Given the description of an element on the screen output the (x, y) to click on. 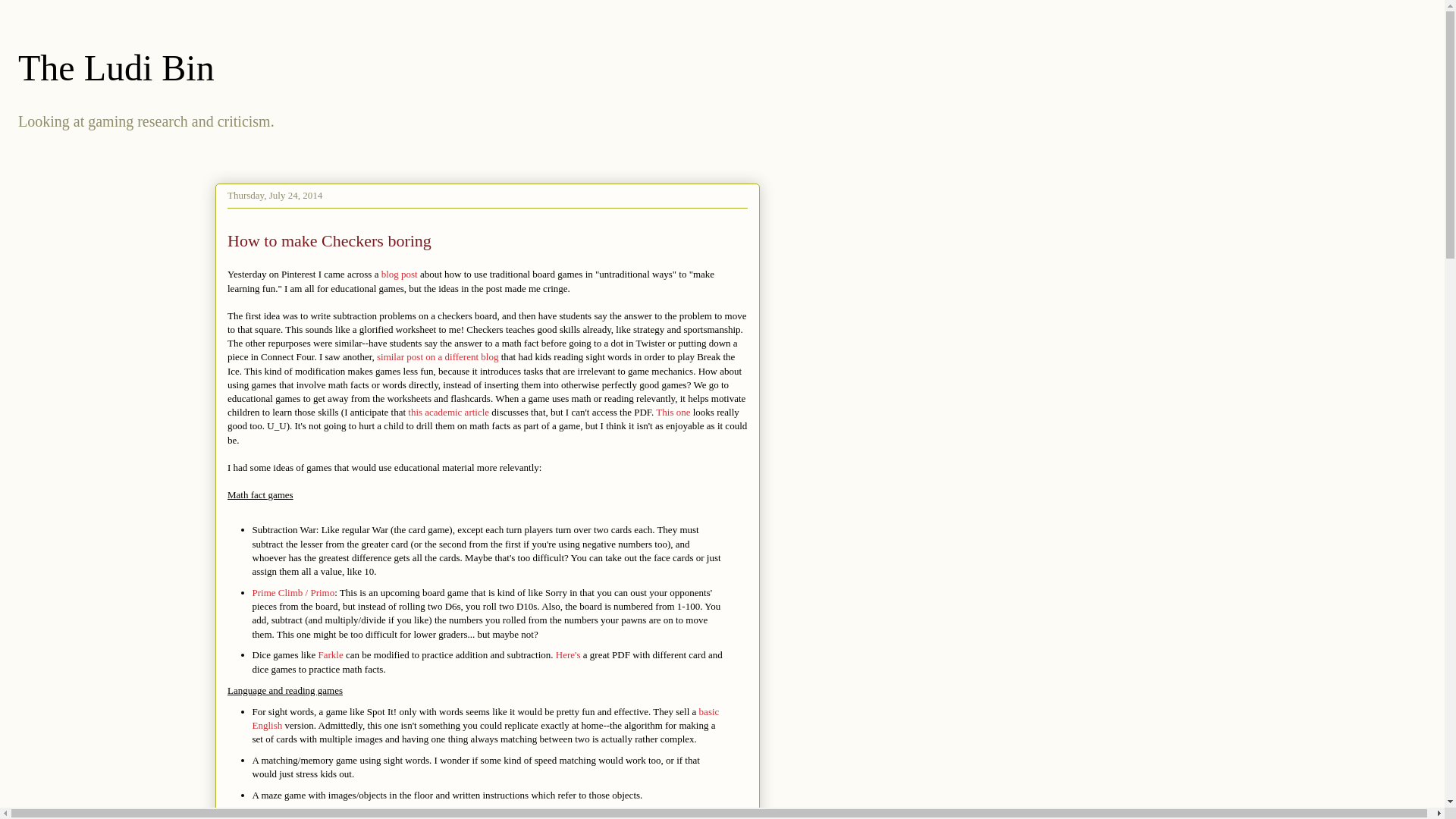
blog post (399, 274)
similar post on a different blog (437, 356)
Sublime Speech (453, 814)
This one (673, 411)
The Ludi Bin (115, 67)
basic English (485, 717)
Farkle (330, 654)
this academic article (448, 411)
Here's (568, 654)
